Given the description of an element on the screen output the (x, y) to click on. 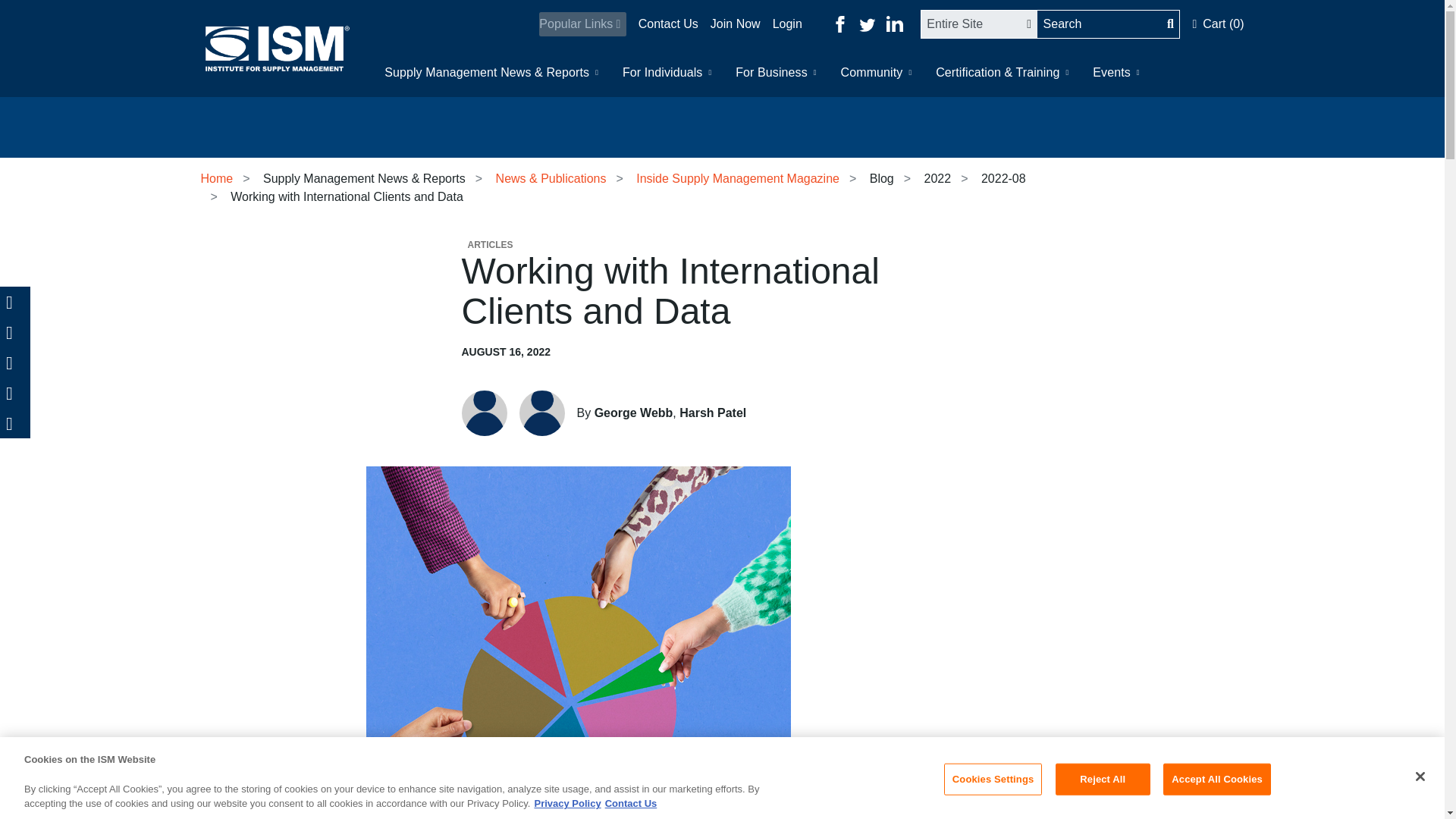
Join Now (729, 24)
LinkedIn (15, 392)
More Options (15, 422)
Login (781, 24)
Email This (15, 362)
Contact Us (662, 24)
Popular Links (582, 24)
Facebook (15, 331)
